Given the description of an element on the screen output the (x, y) to click on. 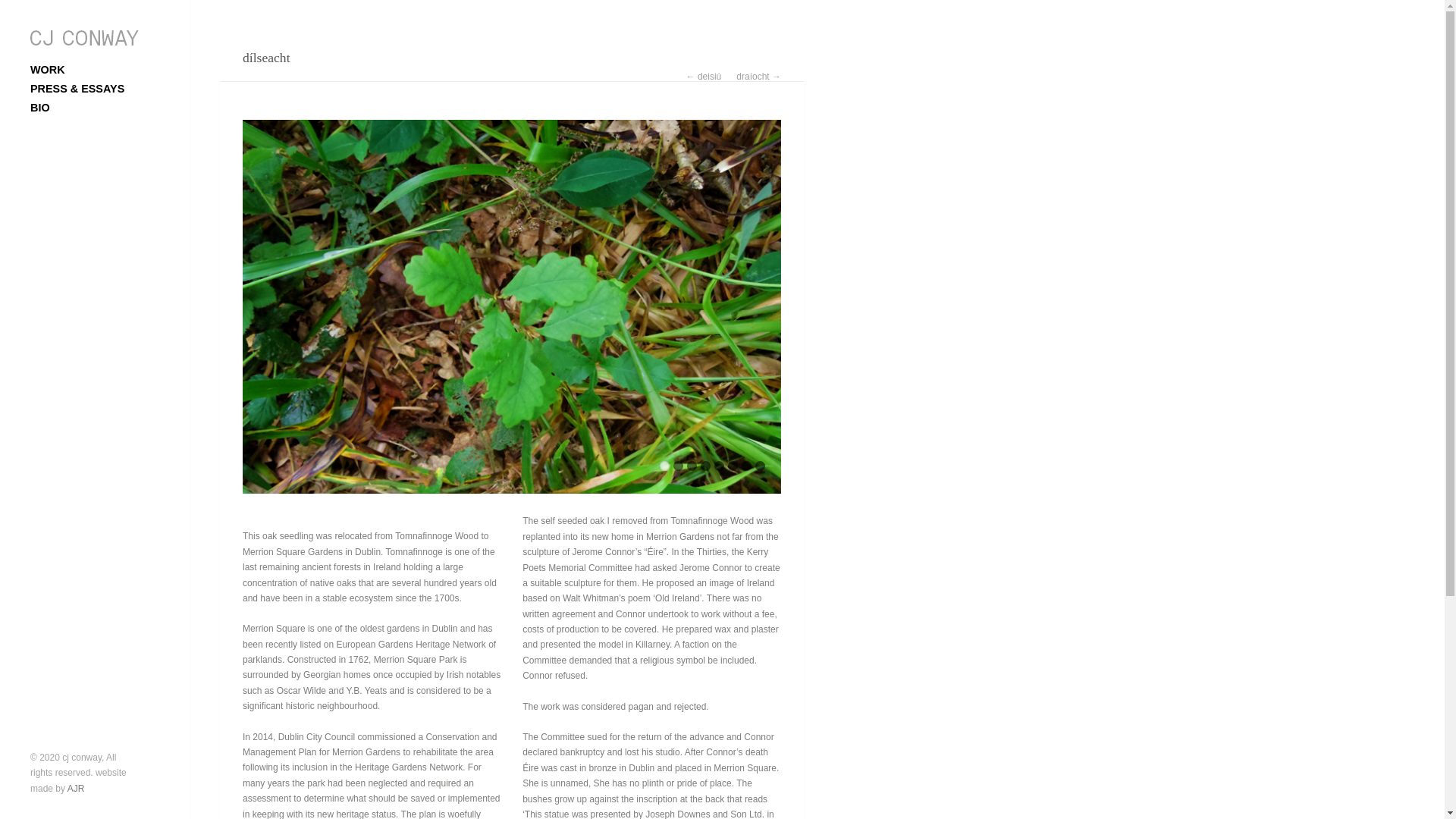
7 (746, 465)
6 (733, 465)
1 (664, 465)
2 (677, 465)
3 (692, 465)
WORK (96, 69)
4 (705, 465)
8 (760, 465)
AJR (75, 787)
BIO (96, 107)
5 (718, 465)
